Given the description of an element on the screen output the (x, y) to click on. 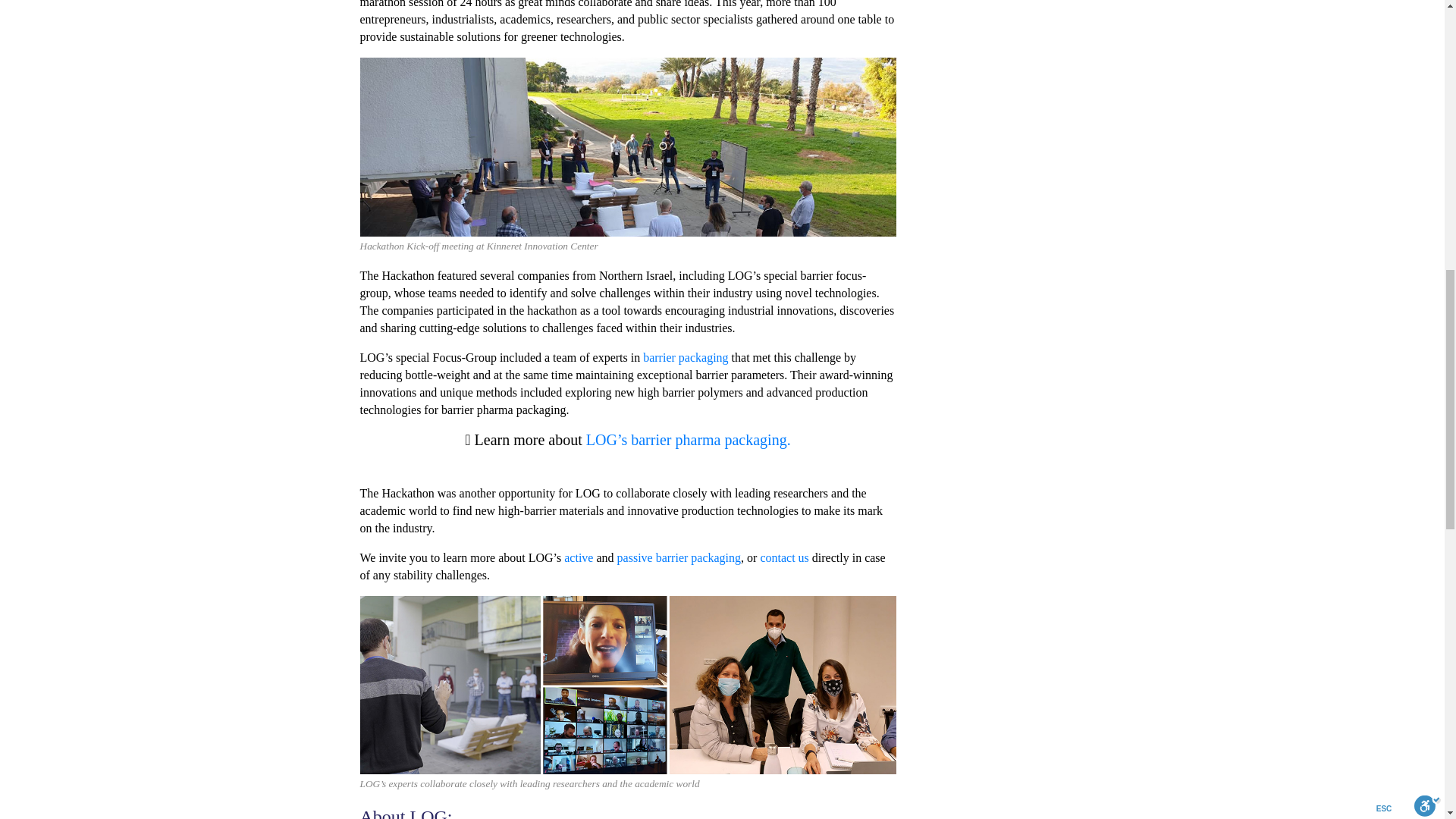
barrier packaging (685, 357)
passive barrier packaging (679, 557)
Navigation on the screen with the keyboard (46, 32)
active (578, 557)
Cancel and Stop display flashes and animations (133, 32)
